Given the description of an element on the screen output the (x, y) to click on. 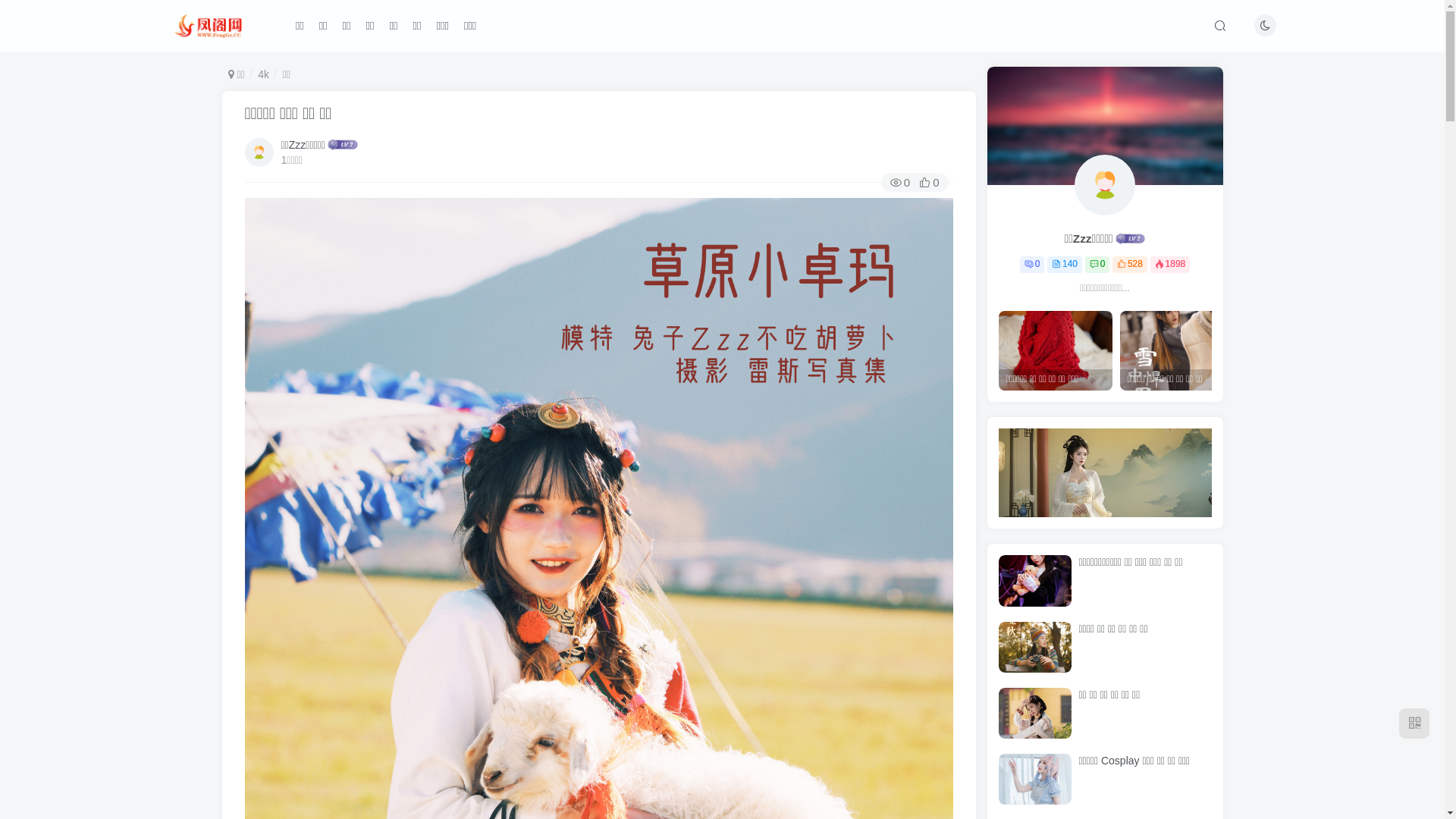
140 Element type: text (1064, 264)
0 Element type: text (1097, 264)
4k Element type: text (263, 74)
0 Element type: text (1031, 264)
